Given the description of an element on the screen output the (x, y) to click on. 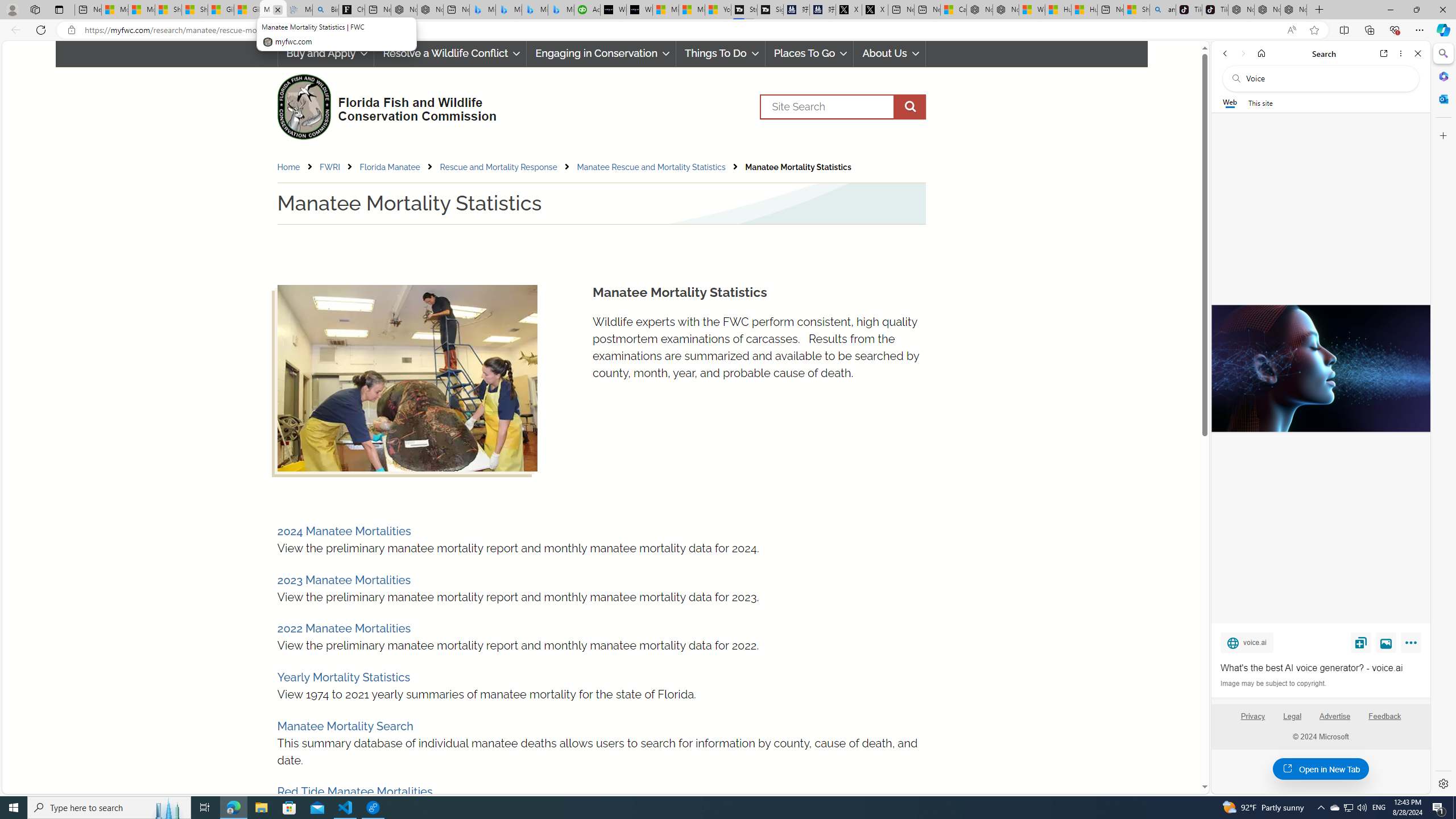
Shanghai, China hourly forecast | Microsoft Weather (1136, 9)
Add this page to favorites (Ctrl+D) (1314, 29)
Refresh (40, 29)
More options (1401, 53)
Nordace - Summer Adventures 2024 (1005, 9)
2024 Manatee Mortalities (343, 531)
View site information (70, 29)
2022 Manatee Mortalities (343, 628)
Read aloud this page (Ctrl+Shift+U) (1291, 29)
Shanghai, China weather forecast | Microsoft Weather (194, 9)
Privacy (1252, 720)
Home (1261, 53)
Florida Manatee (389, 166)
Forward (1242, 53)
